Given the description of an element on the screen output the (x, y) to click on. 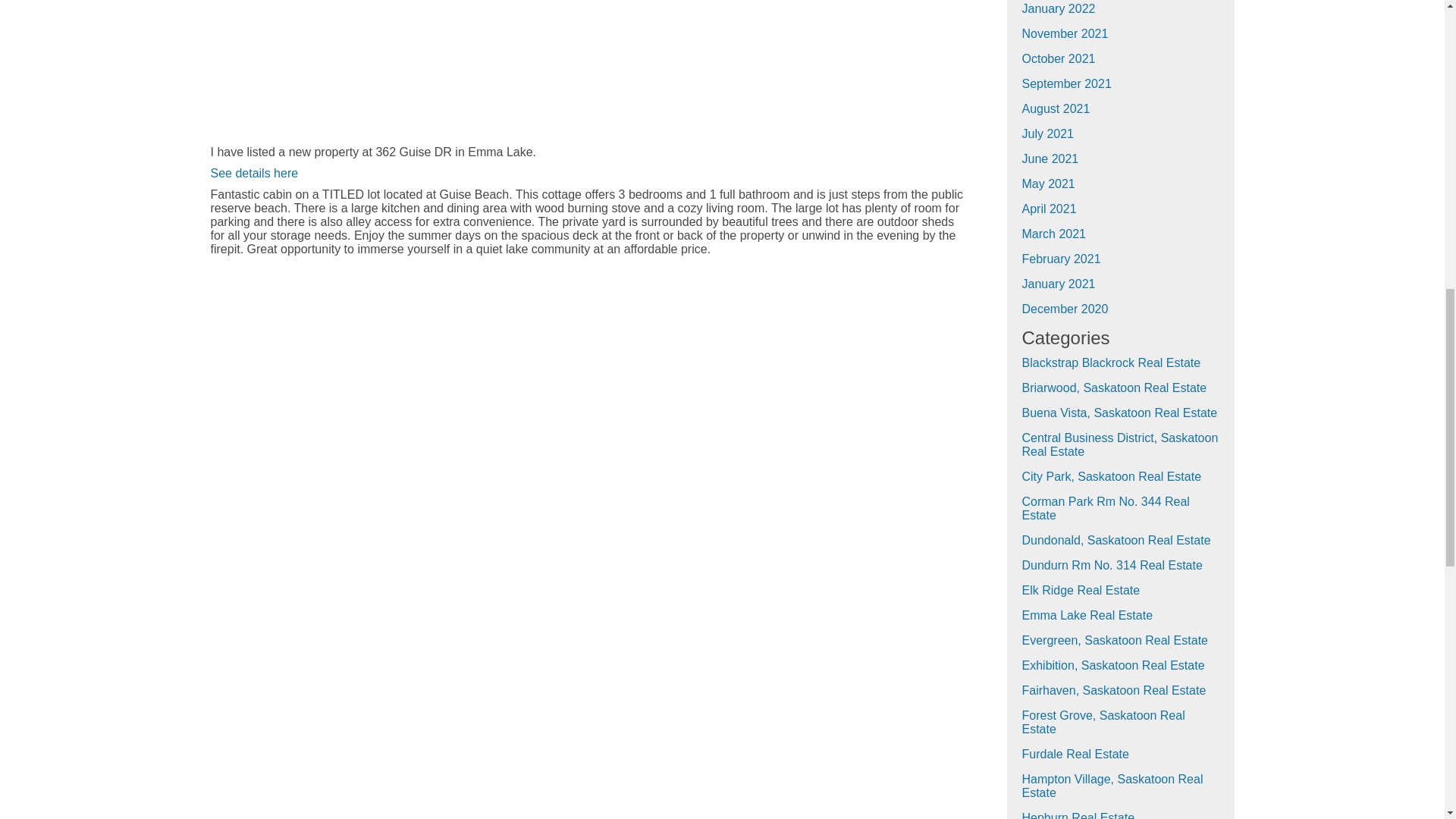
See details here (254, 173)
